Given the description of an element on the screen output the (x, y) to click on. 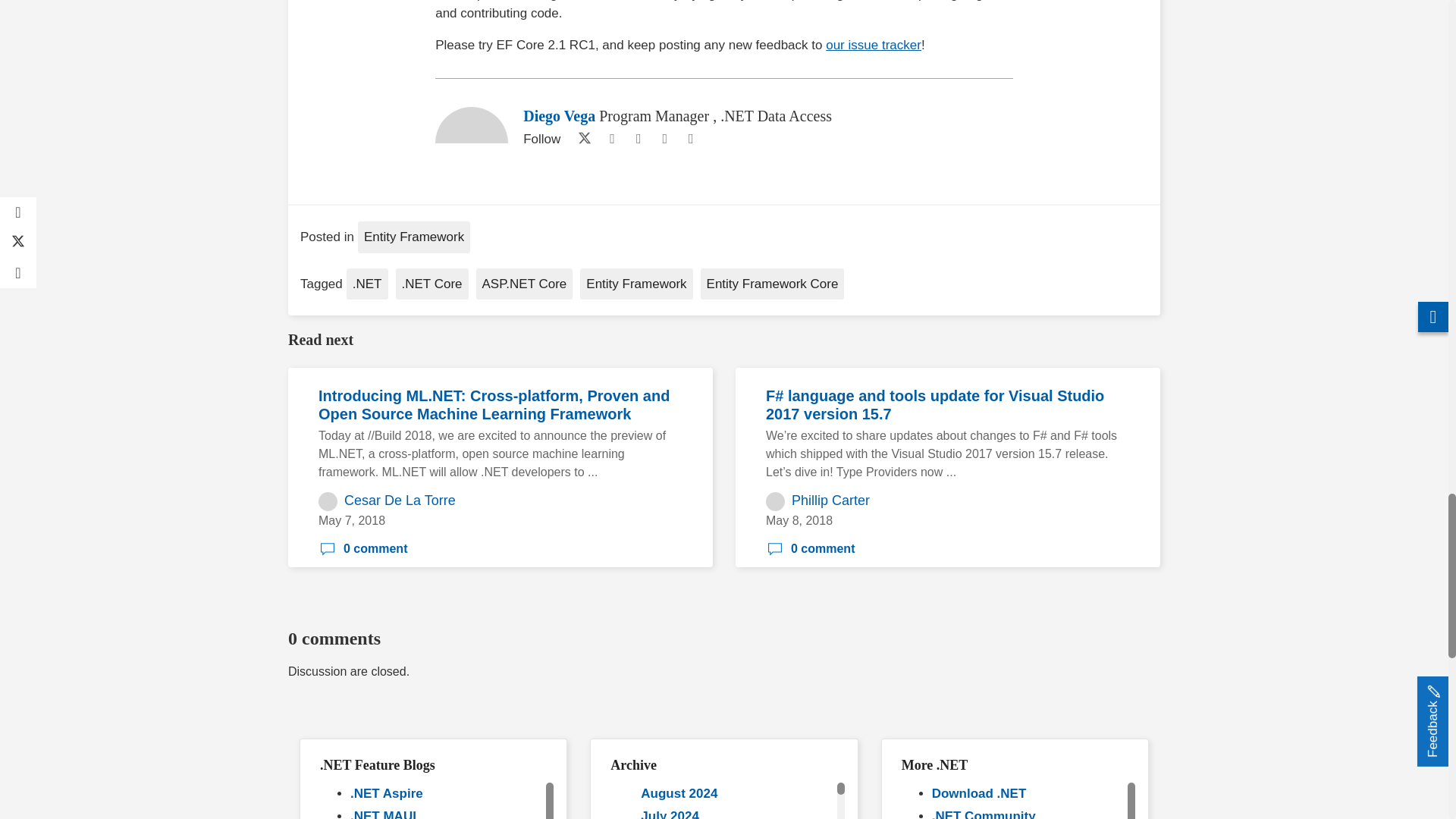
Github (637, 138)
Linkedin (611, 138)
Stack Overflow (664, 138)
Twitter (581, 138)
RSS Feed (690, 138)
